Given the description of an element on the screen output the (x, y) to click on. 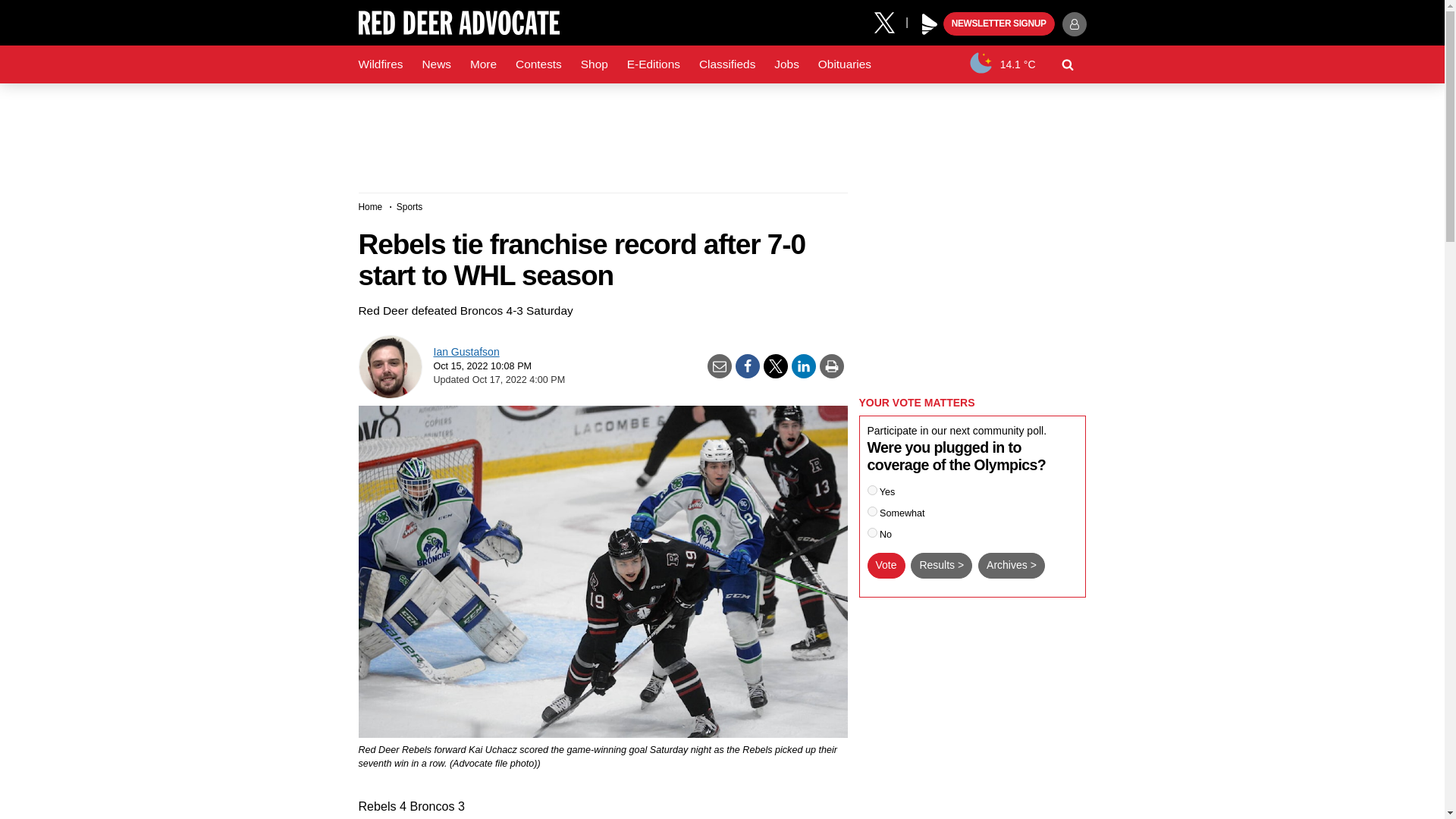
NEWSLETTER SIGNUP (998, 24)
272 (872, 490)
Play (929, 24)
Wildfires (380, 64)
273 (872, 511)
X (889, 21)
News (435, 64)
274 (872, 532)
Black Press Media (929, 24)
